Given the description of an element on the screen output the (x, y) to click on. 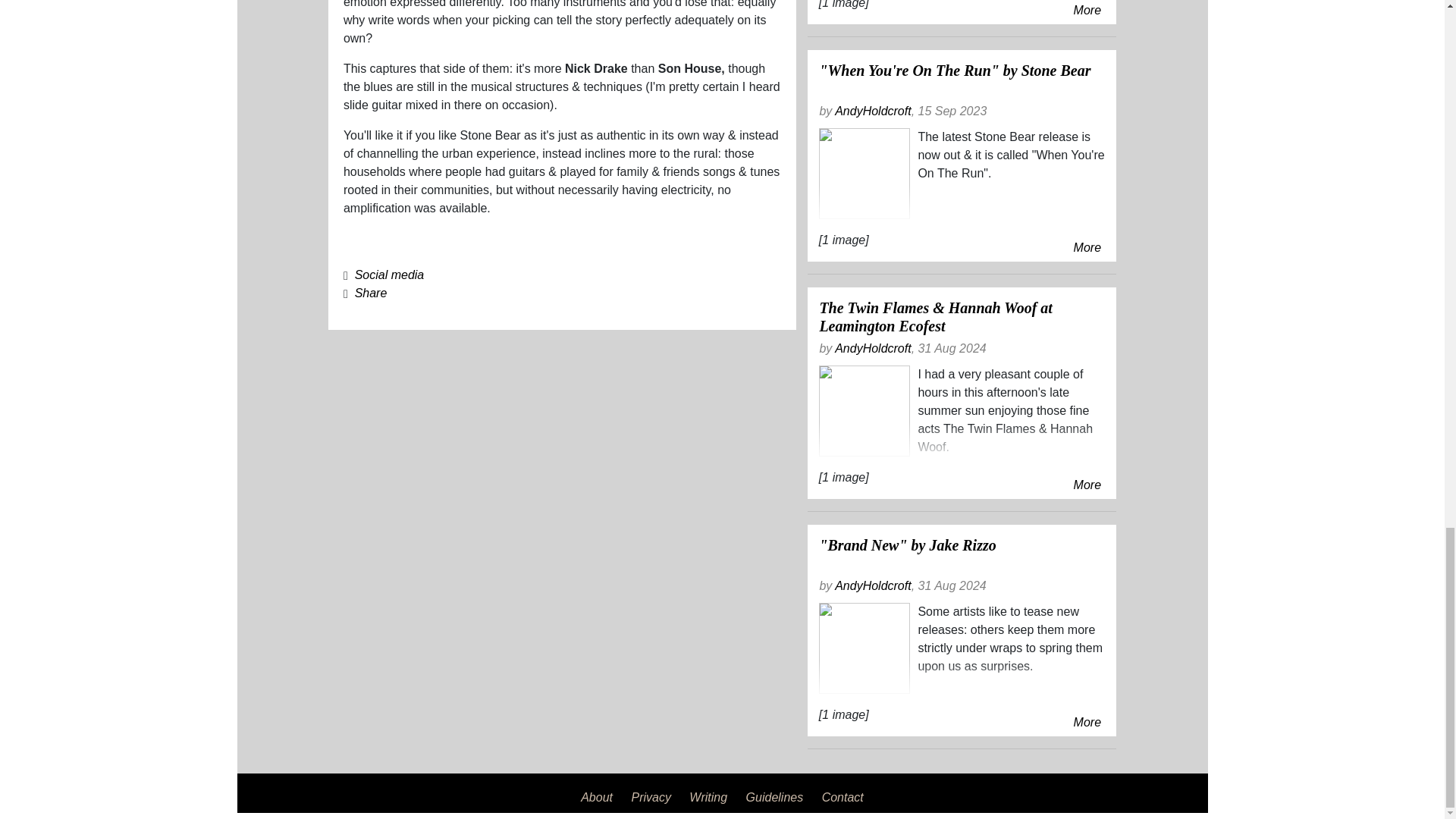
Show URL and link HTML (371, 292)
Share (371, 292)
AndyHoldcroft (872, 110)
AndyHoldcroft (872, 348)
AndyHoldcroft (872, 585)
Social media (390, 274)
